Given the description of an element on the screen output the (x, y) to click on. 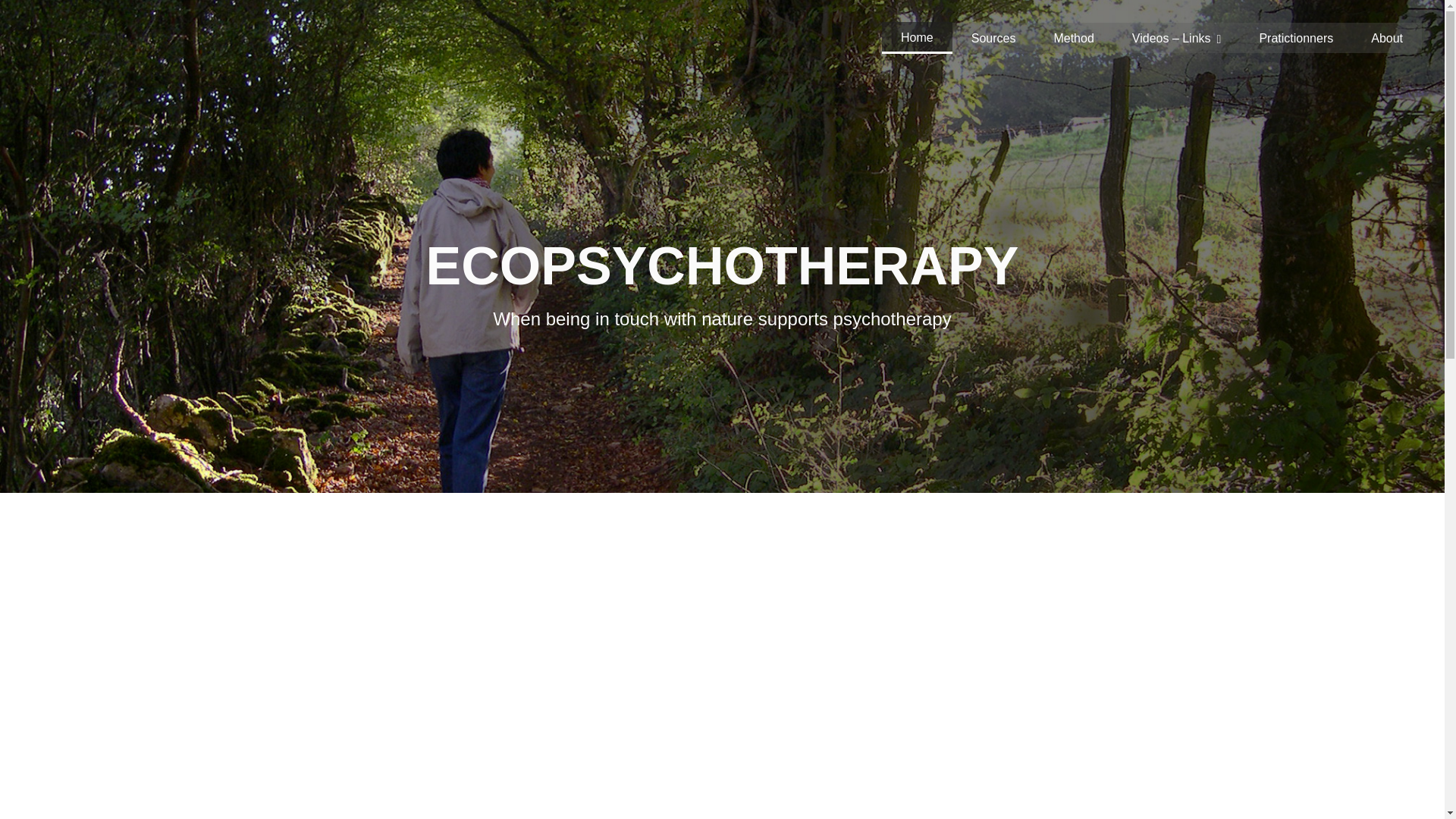
About (1387, 37)
Sources (993, 37)
Method (1072, 37)
Pratictionners (1296, 37)
Home (917, 38)
